Given the description of an element on the screen output the (x, y) to click on. 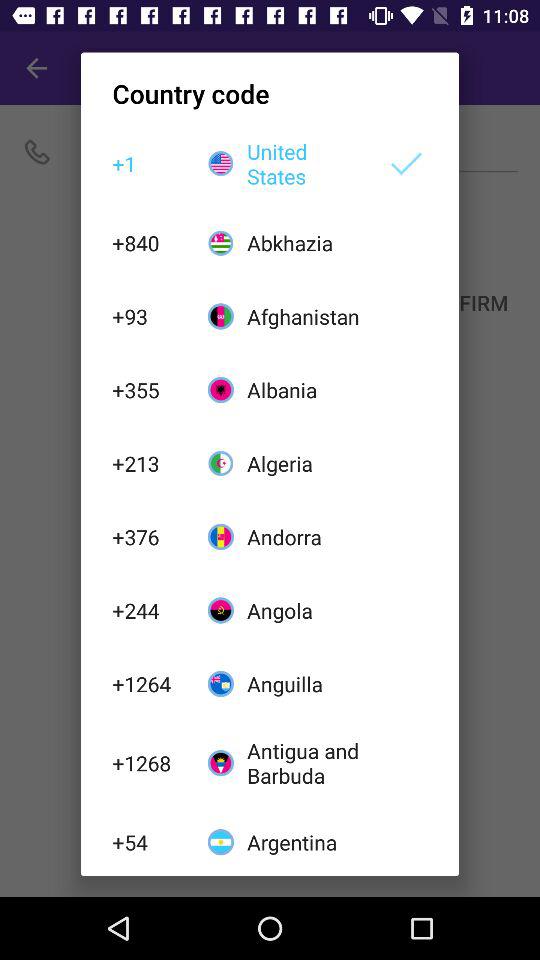
select icon above antigua and barbuda (305, 683)
